Given the description of an element on the screen output the (x, y) to click on. 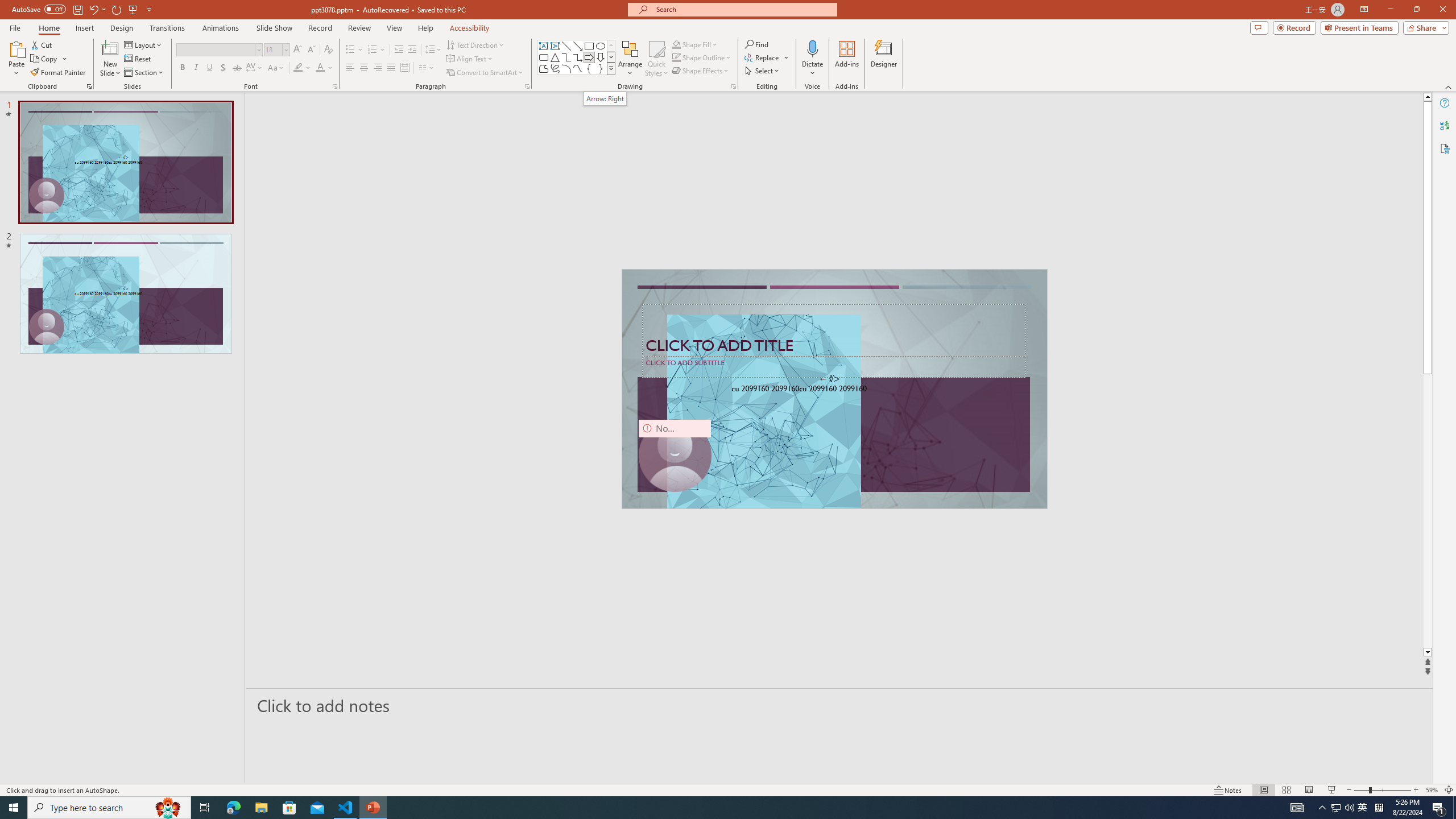
Layout (143, 44)
Font... (334, 85)
Center (363, 67)
Arrow: Right (589, 57)
Section (144, 72)
Shape Outline Green, Accent 1 (675, 56)
Arrow: Right (604, 98)
Subtitle TextBox (834, 366)
